Given the description of an element on the screen output the (x, y) to click on. 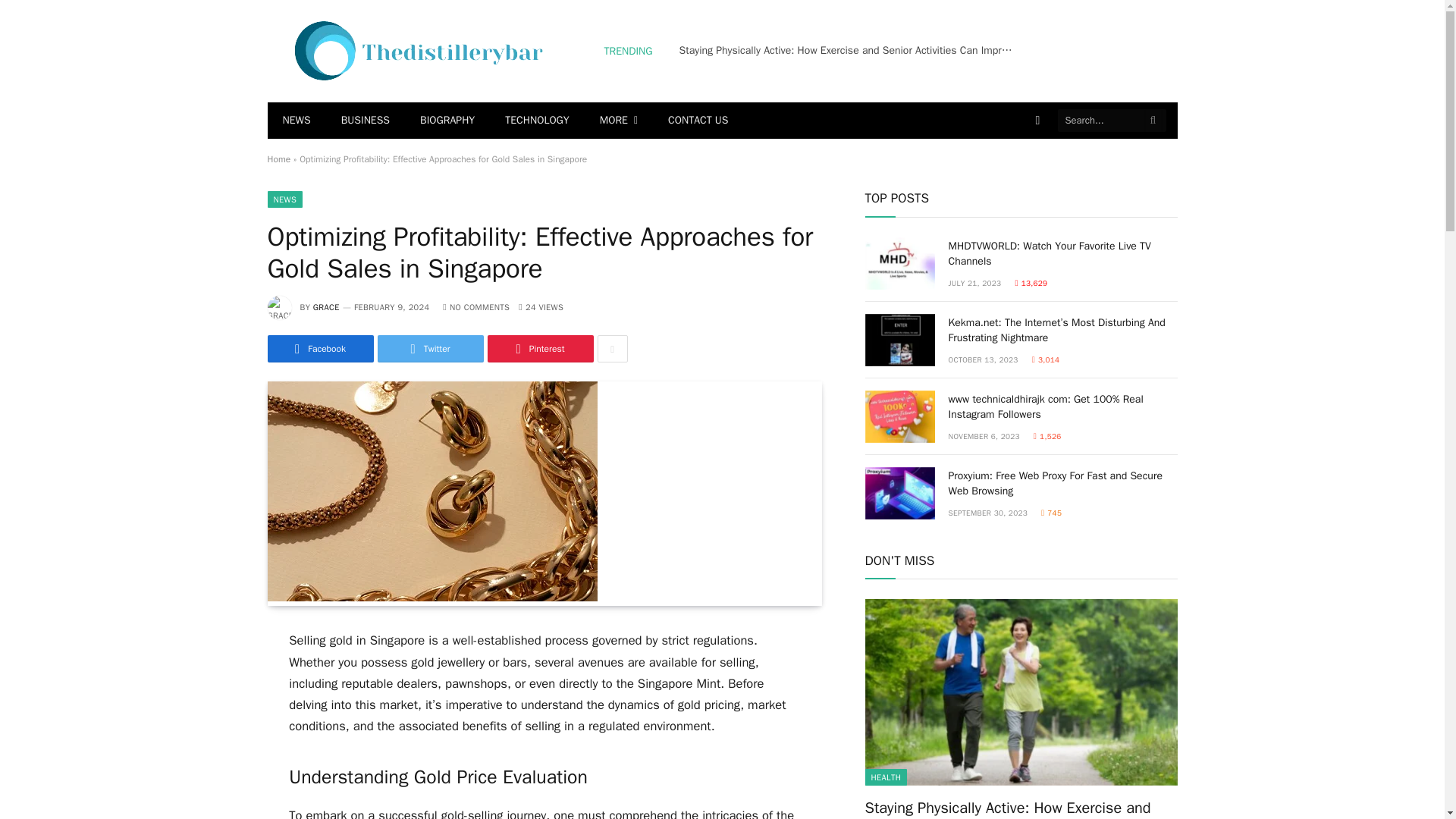
Share on Facebook (319, 348)
Share on Pinterest (539, 348)
Posts by Grace (326, 307)
NEWS (295, 120)
TECHNOLOGY (536, 120)
BIOGRAPHY (446, 120)
24 Article Views (540, 307)
BUSINESS (365, 120)
Switch to Dark Design - easier on eyes. (1036, 120)
